Given the description of an element on the screen output the (x, y) to click on. 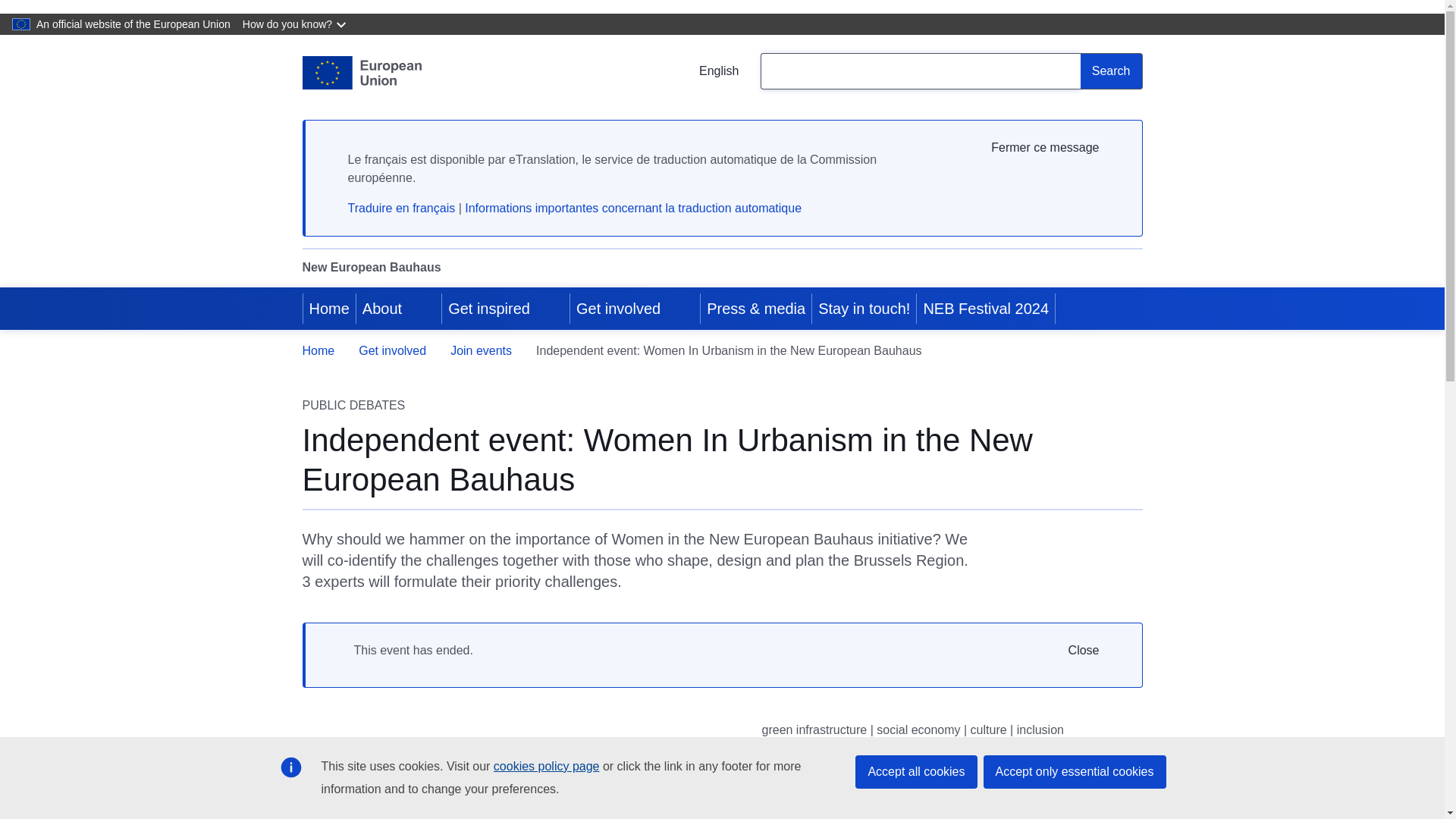
cookies policy page (546, 766)
Get involved (616, 308)
Search (1111, 71)
Accept all cookies (916, 771)
Fermer ce message (1055, 147)
Home (328, 308)
Get inspired (487, 308)
English (706, 71)
